Given the description of an element on the screen output the (x, y) to click on. 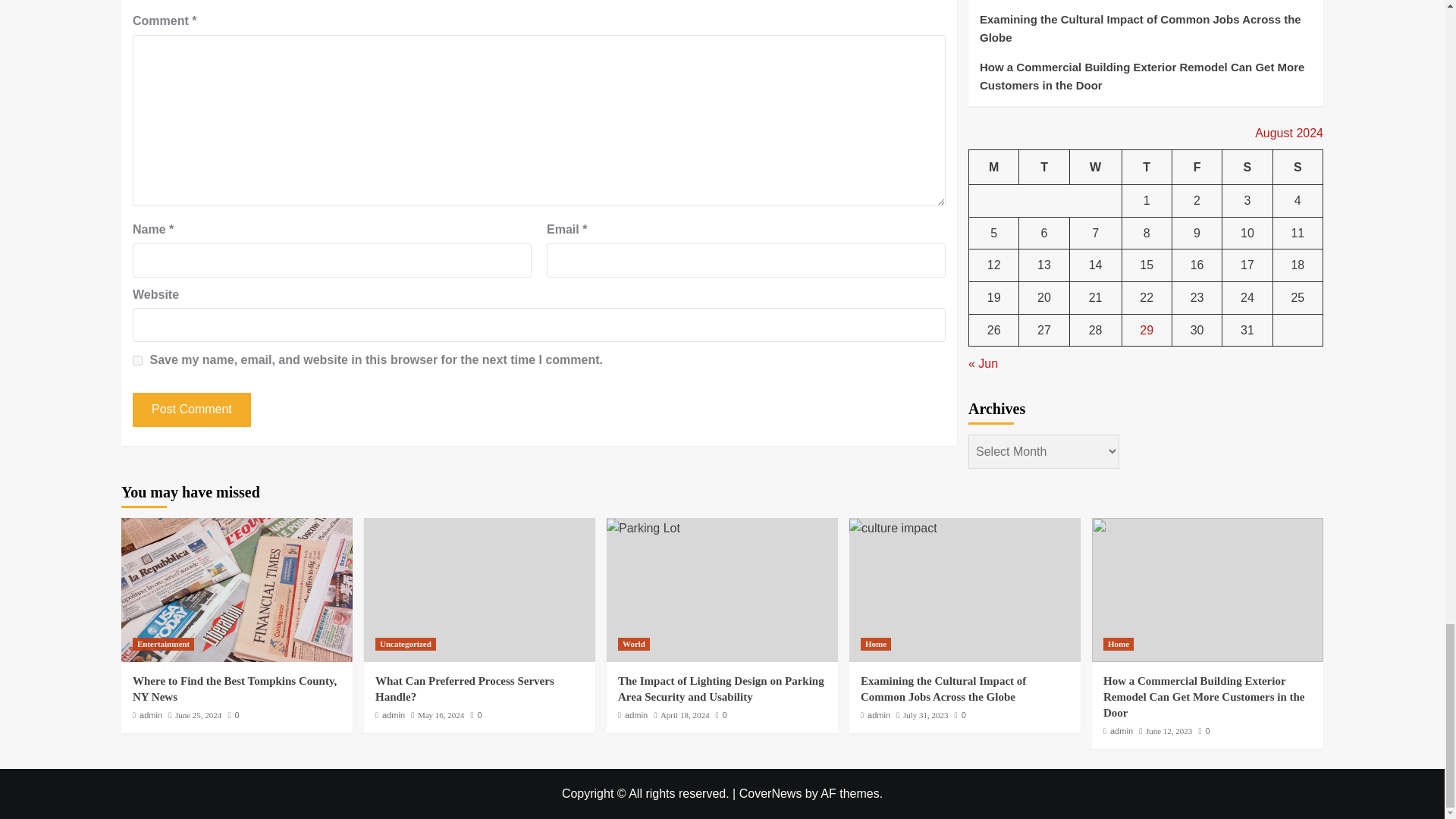
Post Comment (191, 409)
Post Comment (191, 409)
yes (137, 360)
